Given the description of an element on the screen output the (x, y) to click on. 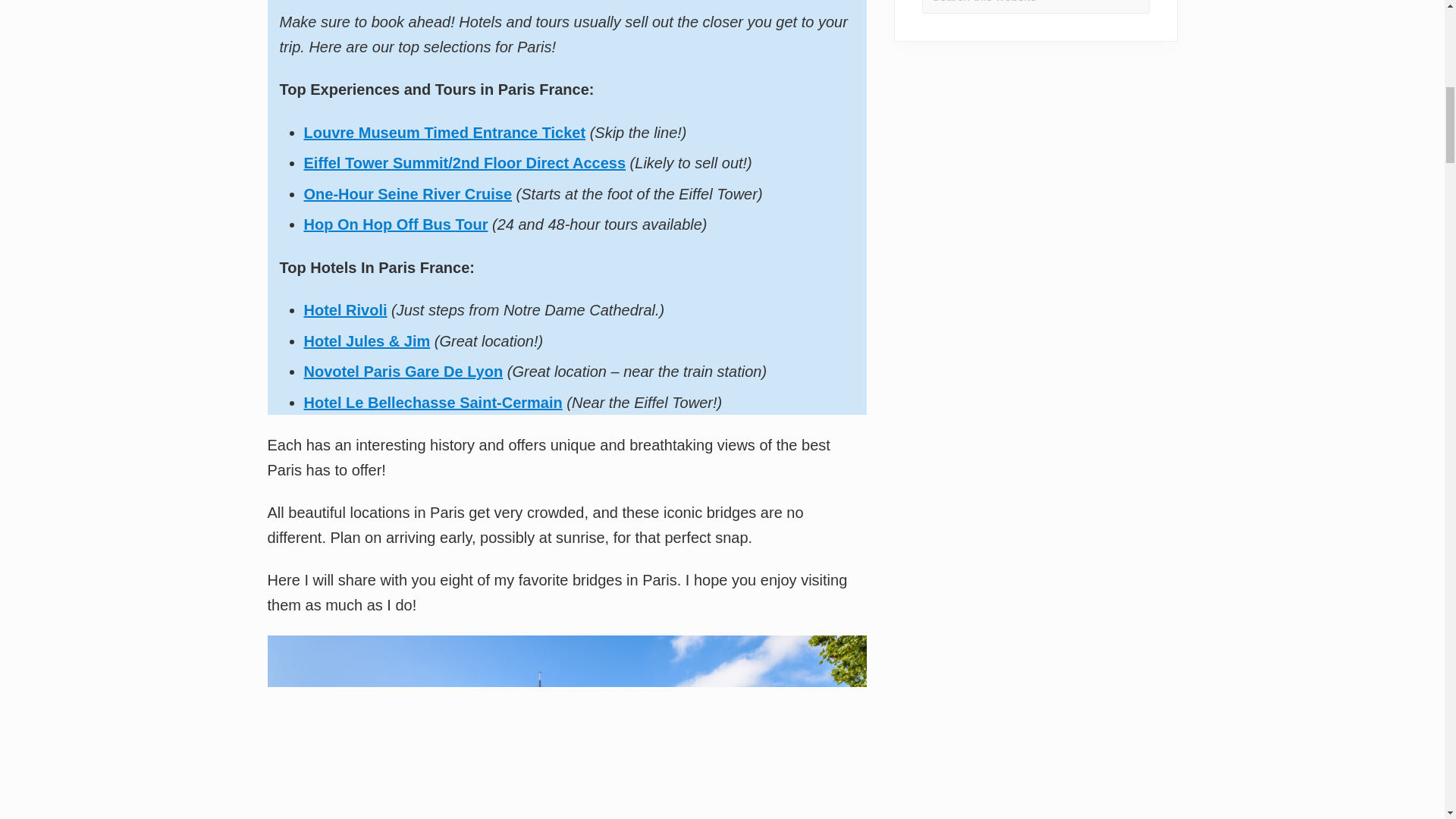
Tour (470, 224)
Louvre Museum Timed Entrance Ticket (443, 132)
Hotel Le Bellechasse Saint-Cermain (432, 402)
Hotel Rivoli (344, 310)
Novotel Paris Gare De Lyon (402, 371)
Hop On Hop Off Bus (375, 224)
One-Hour Seine River Cruise (407, 193)
